Given the description of an element on the screen output the (x, y) to click on. 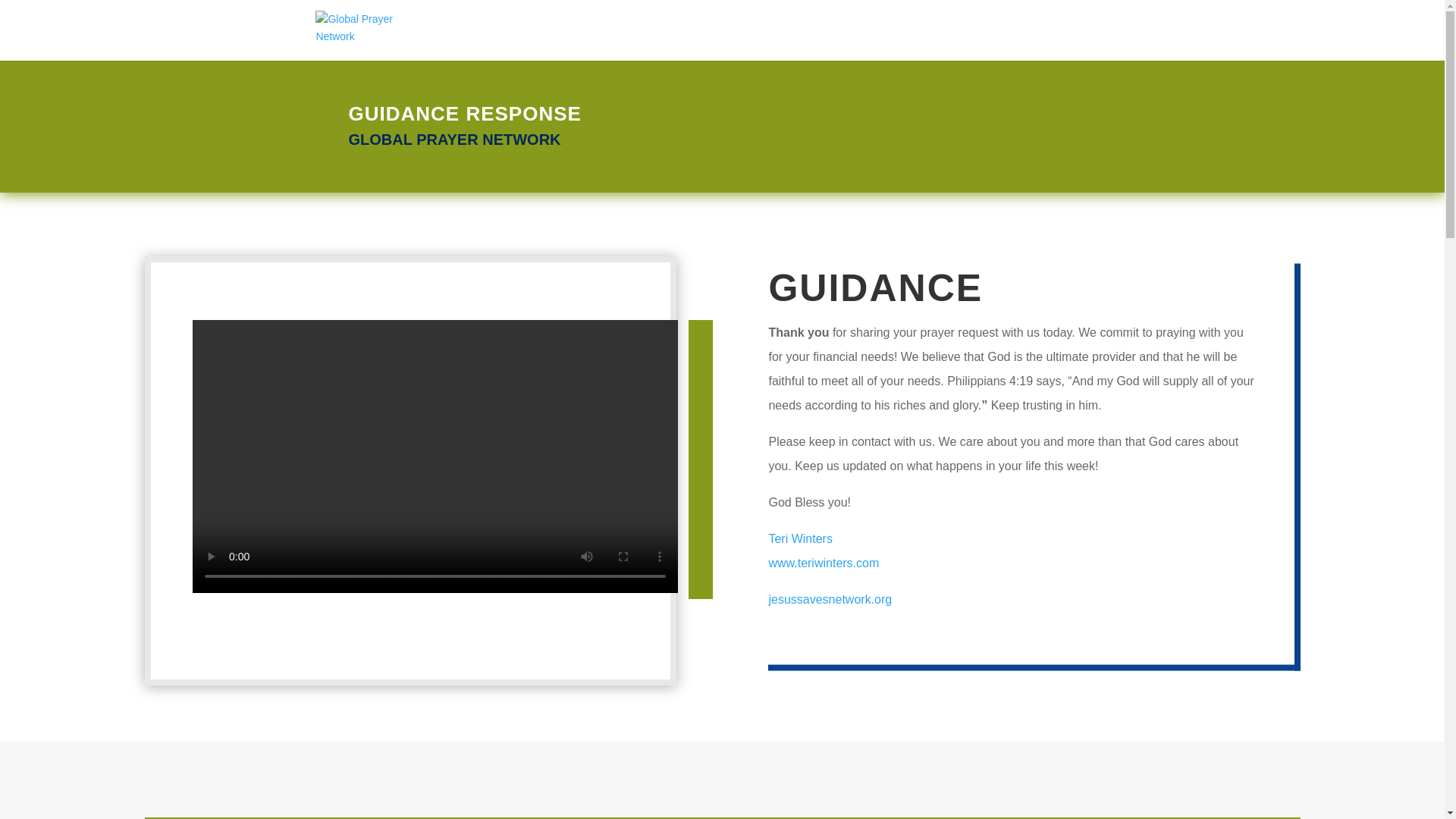
SUBMIT YOUR REQUEST (673, 42)
jesussavesnetwork.org (829, 599)
KNOW GOD (979, 42)
Teri Winters (799, 538)
CONTACT (1068, 42)
RESOURCES (881, 42)
www.teriwinters.com (823, 562)
ABOUT (796, 42)
